Given the description of an element on the screen output the (x, y) to click on. 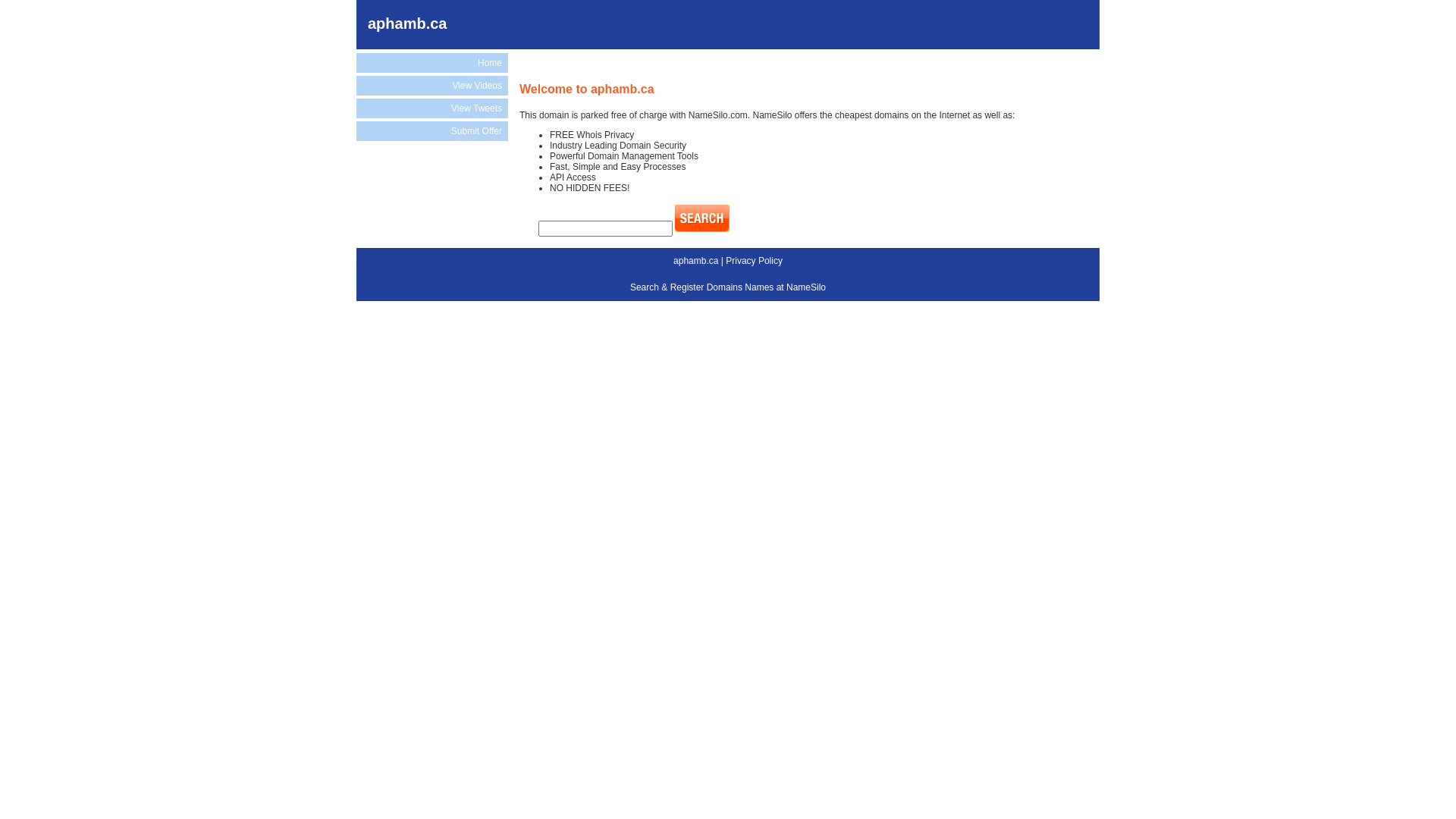
Submit Offer Element type: text (432, 131)
View Videos Element type: text (432, 85)
View Tweets Element type: text (432, 108)
Home Element type: text (432, 62)
Privacy Policy Element type: text (753, 260)
Search & Register Domains Names at NameSilo Element type: text (727, 287)
